Given the description of an element on the screen output the (x, y) to click on. 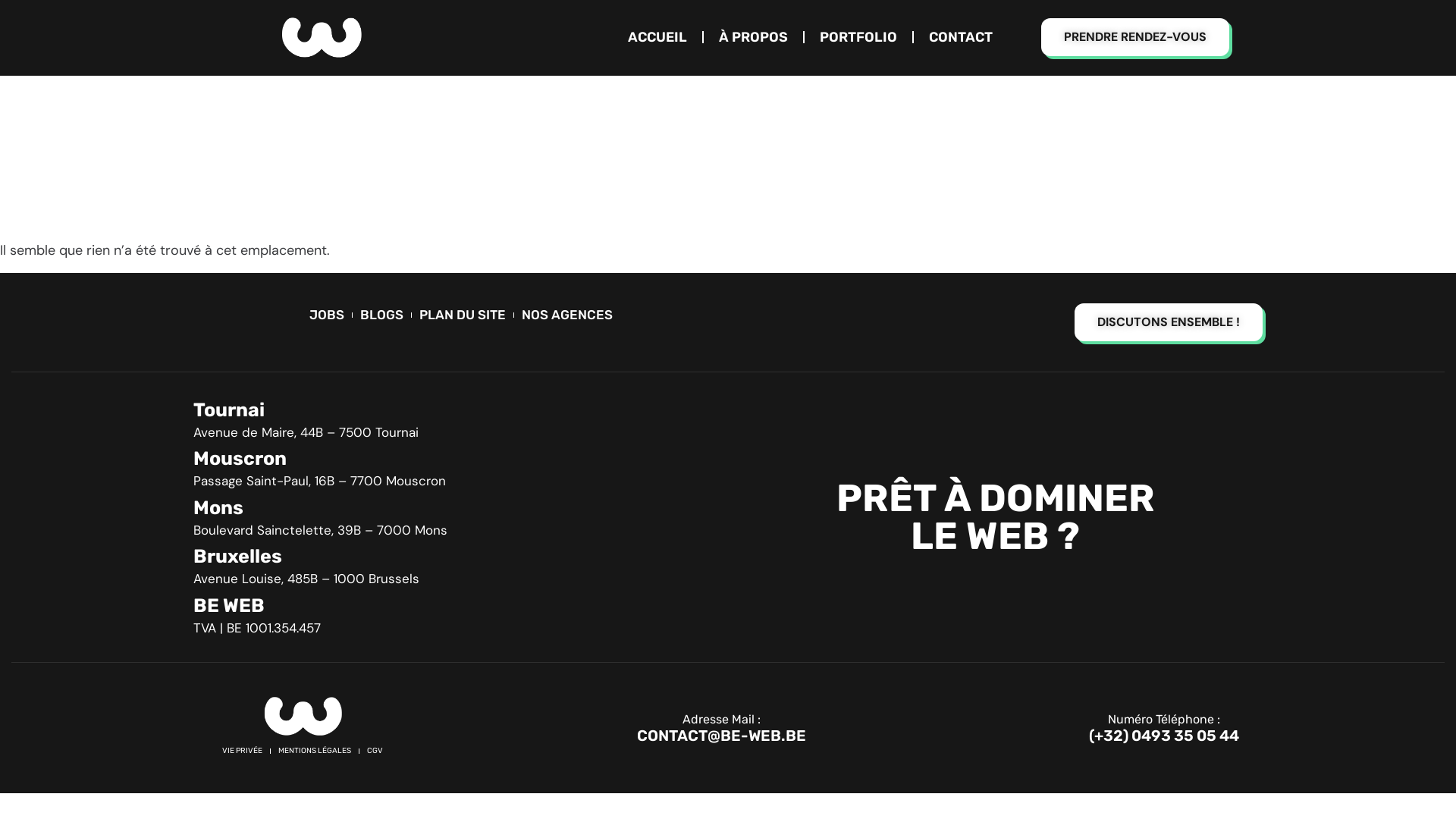
BLOGS Element type: text (380, 314)
CGV Element type: text (374, 750)
(+32) 0493 35 05 44 Element type: text (1163, 735)
PLAN DU SITE Element type: text (461, 314)
CONTACT Element type: text (960, 36)
PORTFOLIO Element type: text (858, 36)
CONTACT@BE-WEB.BE Element type: text (721, 735)
NOS AGENCES Element type: text (567, 314)
JOBS Element type: text (326, 314)
PRENDRE RENDEZ-VOUS Element type: text (1135, 37)
DISCUTONS ENSEMBLE ! Element type: text (1168, 322)
ACCUEIL Element type: text (657, 36)
